Given the description of an element on the screen output the (x, y) to click on. 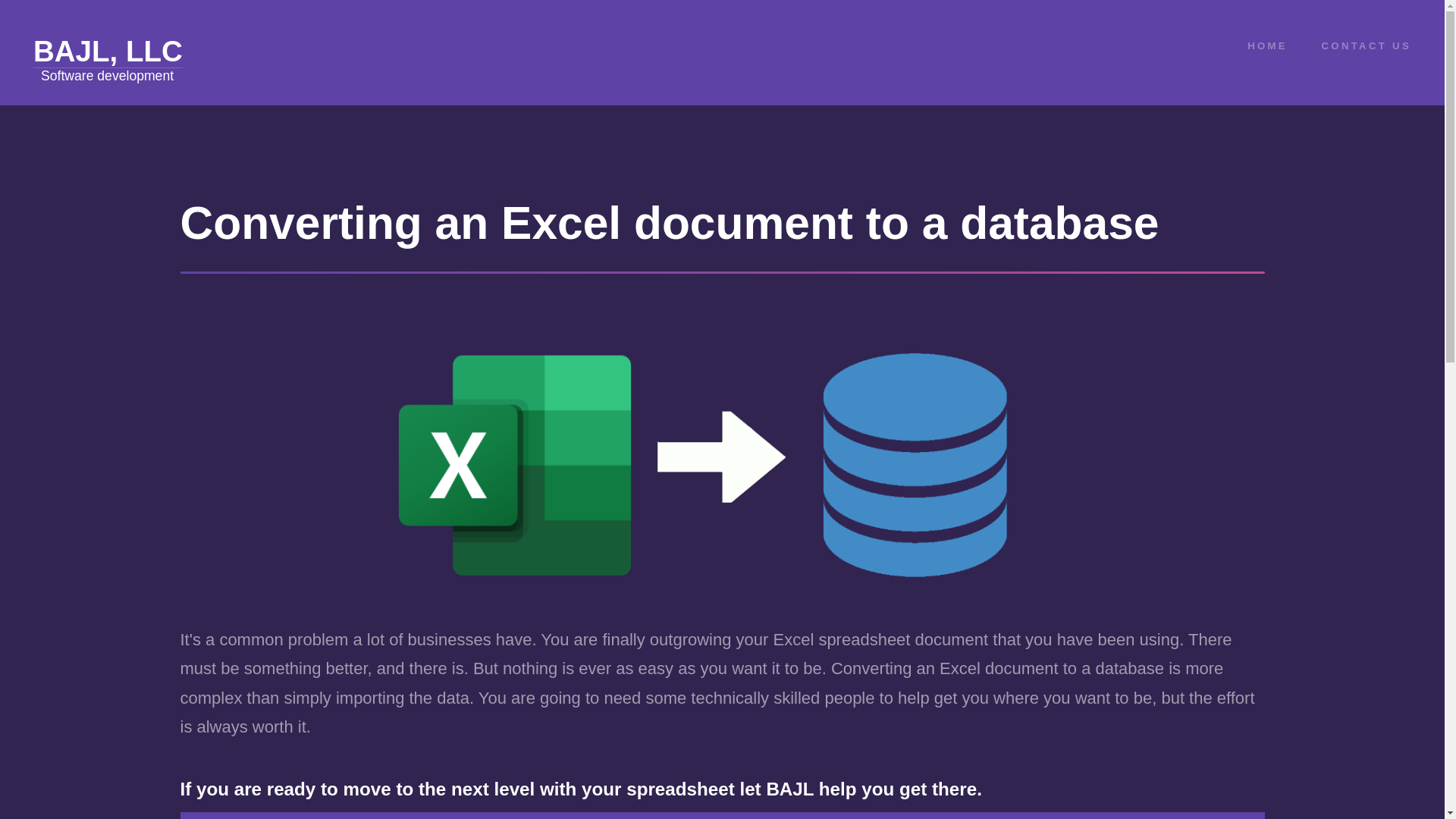
CONTACT US (1366, 45)
BAJL, LLC (108, 51)
HOME (1267, 45)
